Given the description of an element on the screen output the (x, y) to click on. 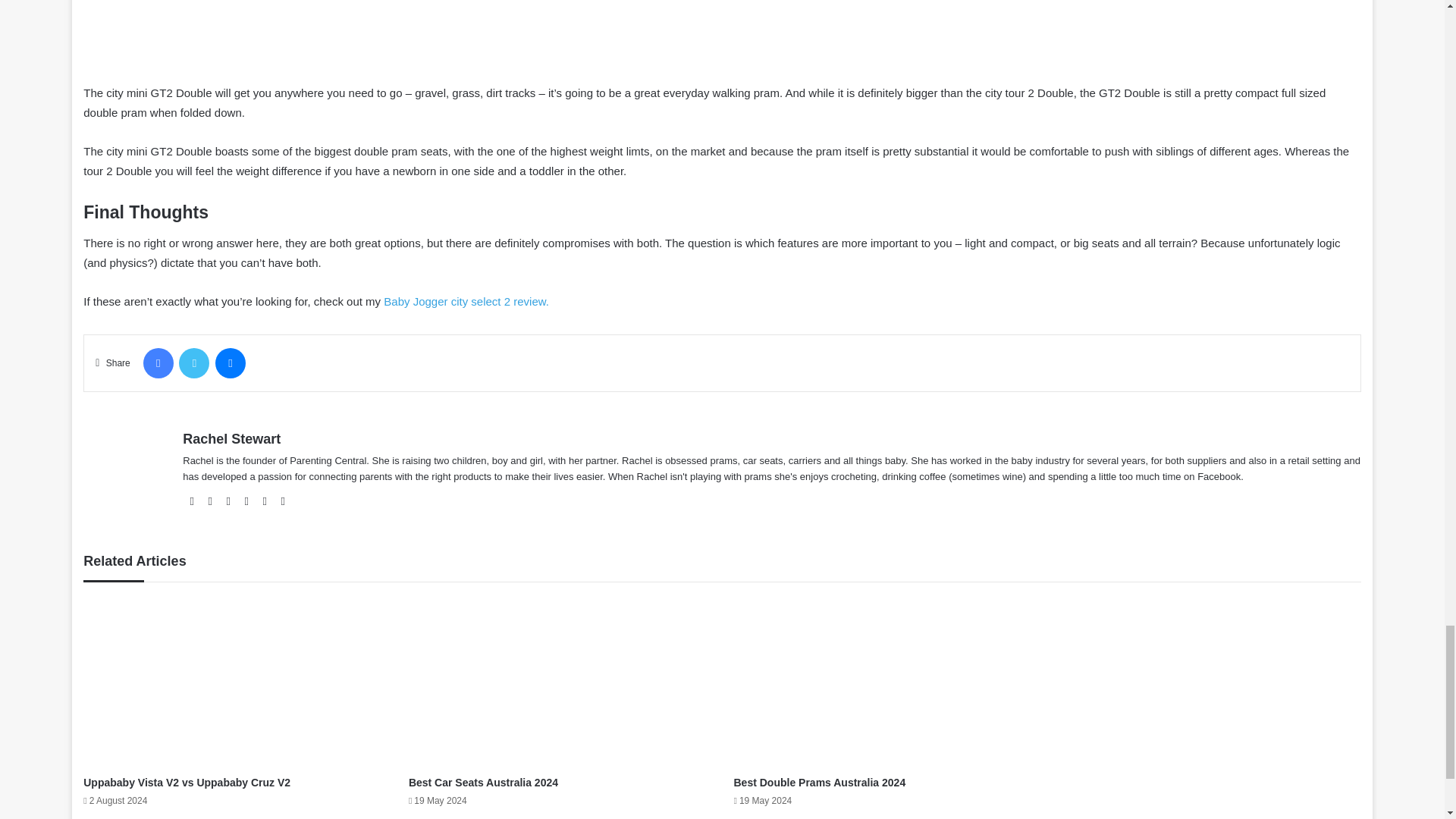
Facebook (157, 363)
Messenger (230, 363)
X (194, 363)
